Given the description of an element on the screen output the (x, y) to click on. 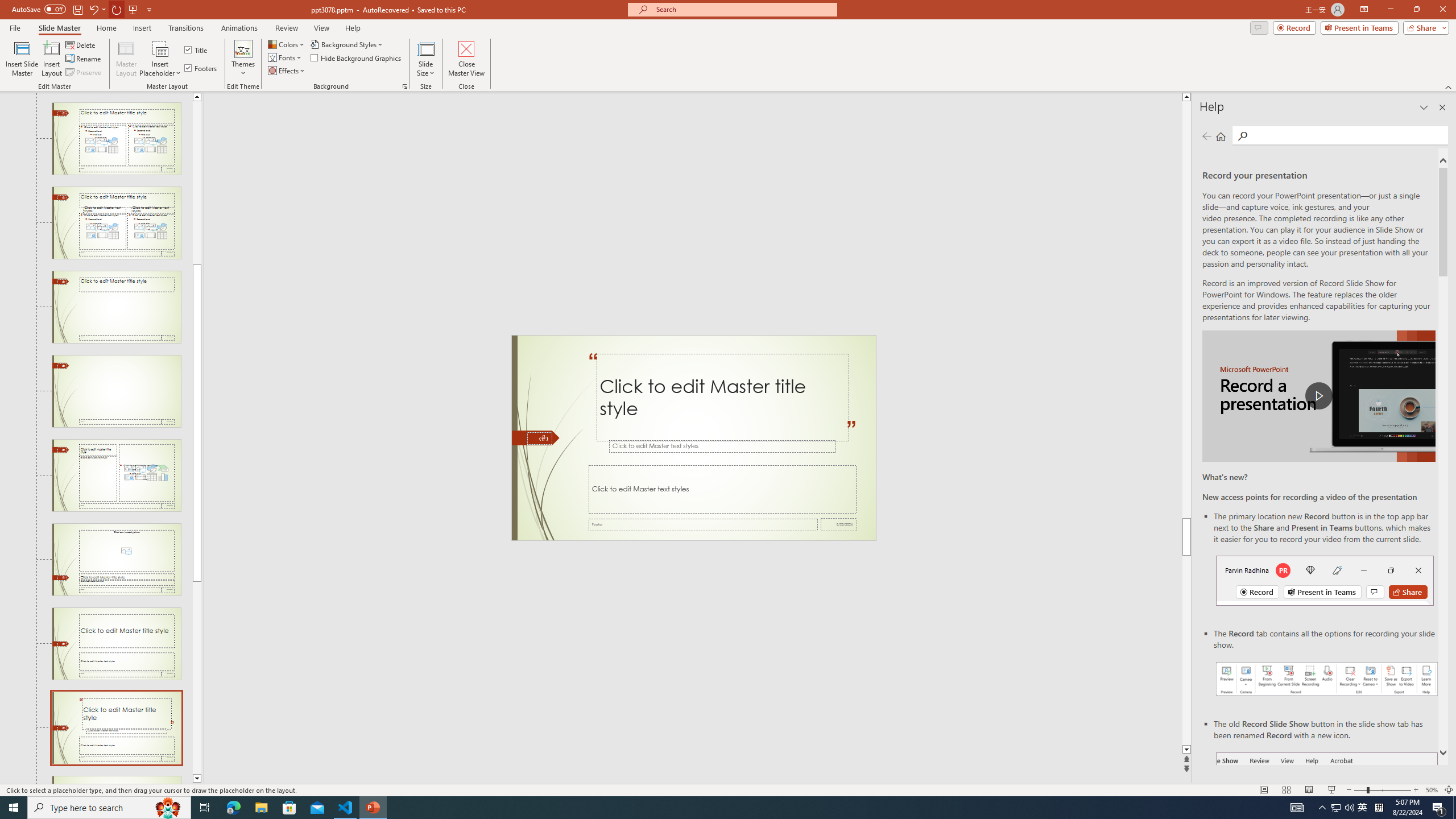
TextBox 13 (593, 367)
Slide Content with Caption Layout: used by no slides (116, 475)
Format Background... (404, 85)
Preserve (84, 72)
Previous page (1206, 136)
Slide Name Card Layout: used by no slides (116, 779)
Footers (201, 67)
